Given the description of an element on the screen output the (x, y) to click on. 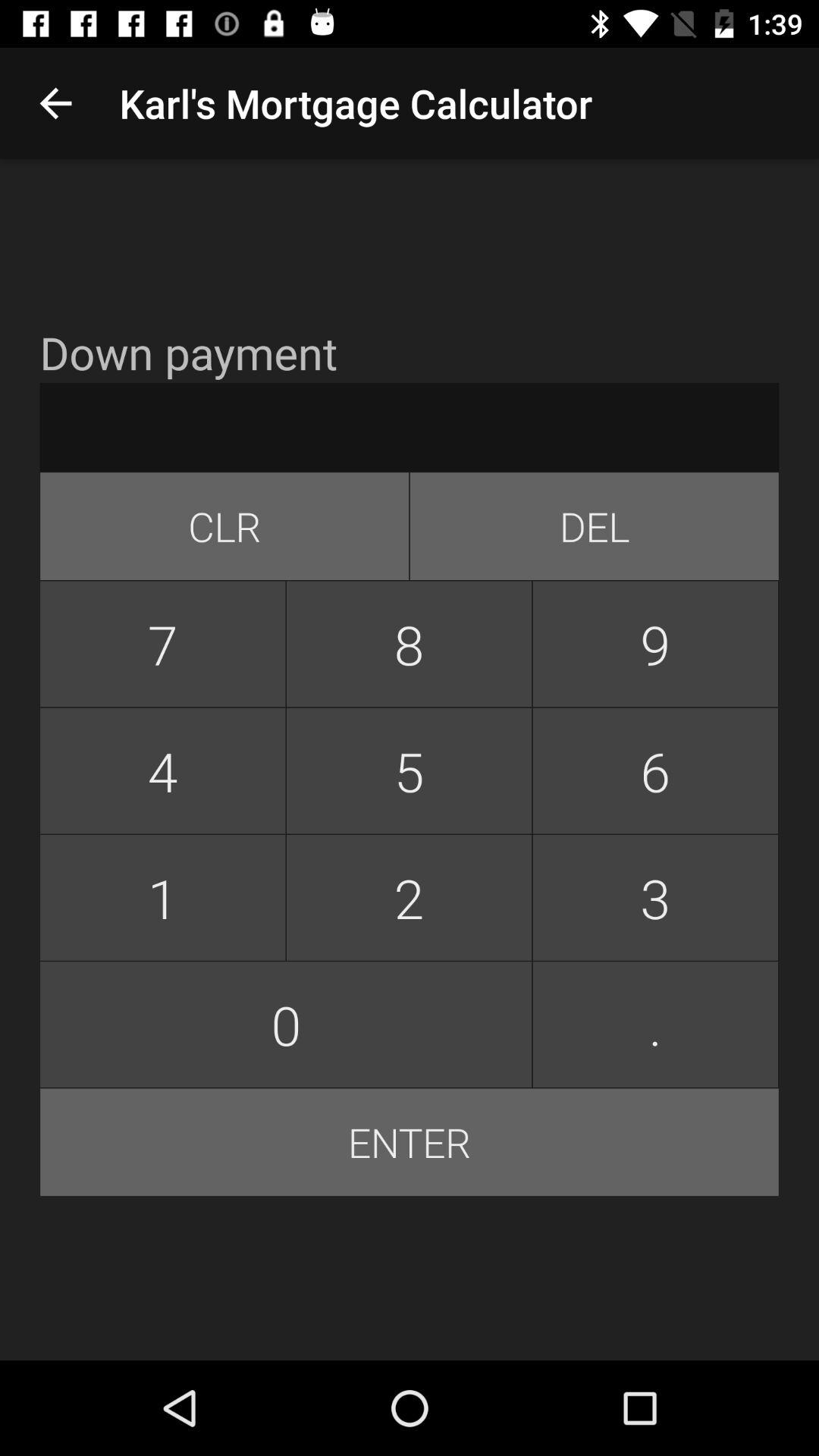
select the icon below clr (408, 643)
